Given the description of an element on the screen output the (x, y) to click on. 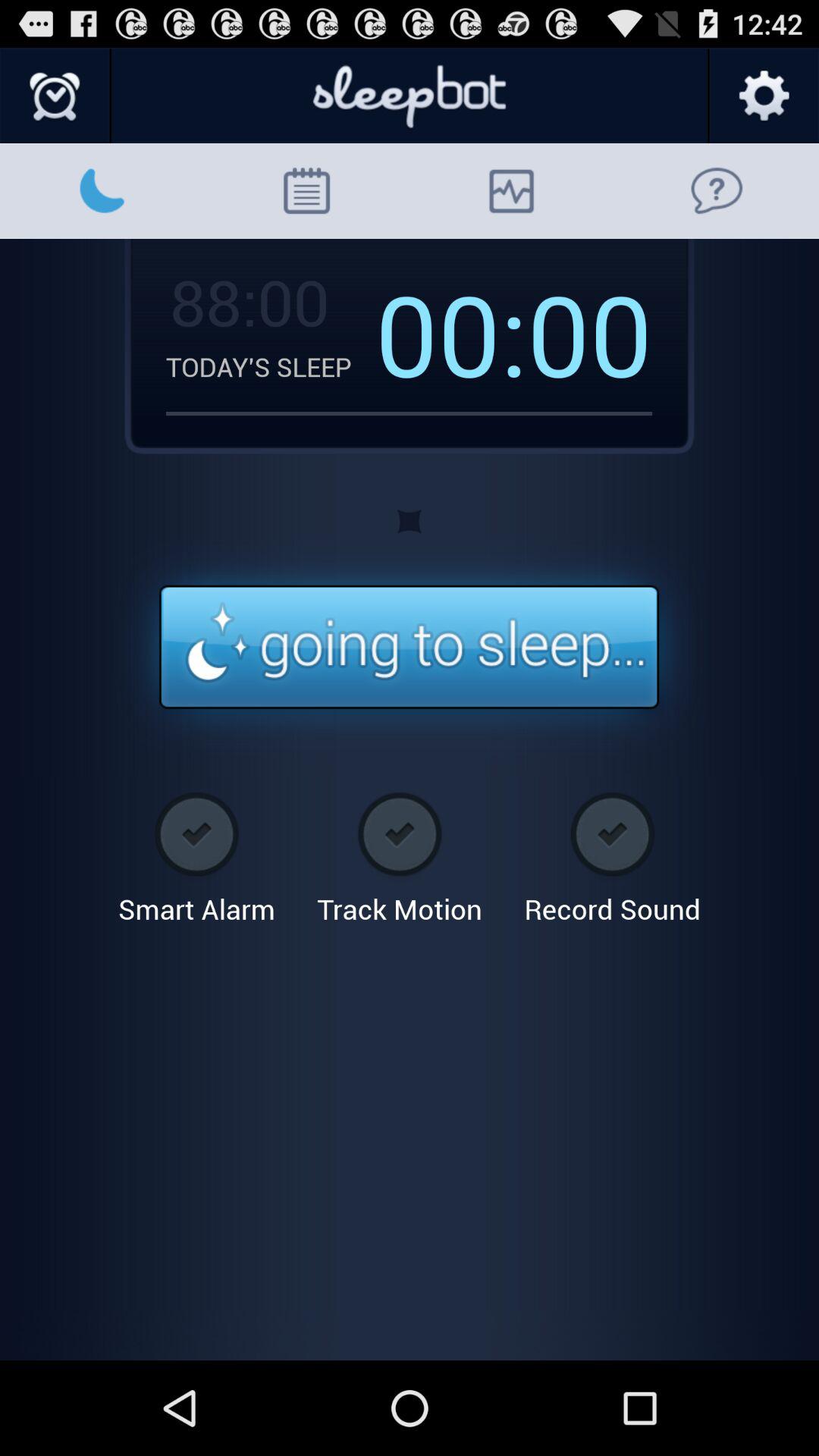
tap the item next to the 00: (270, 366)
